Given the description of an element on the screen output the (x, y) to click on. 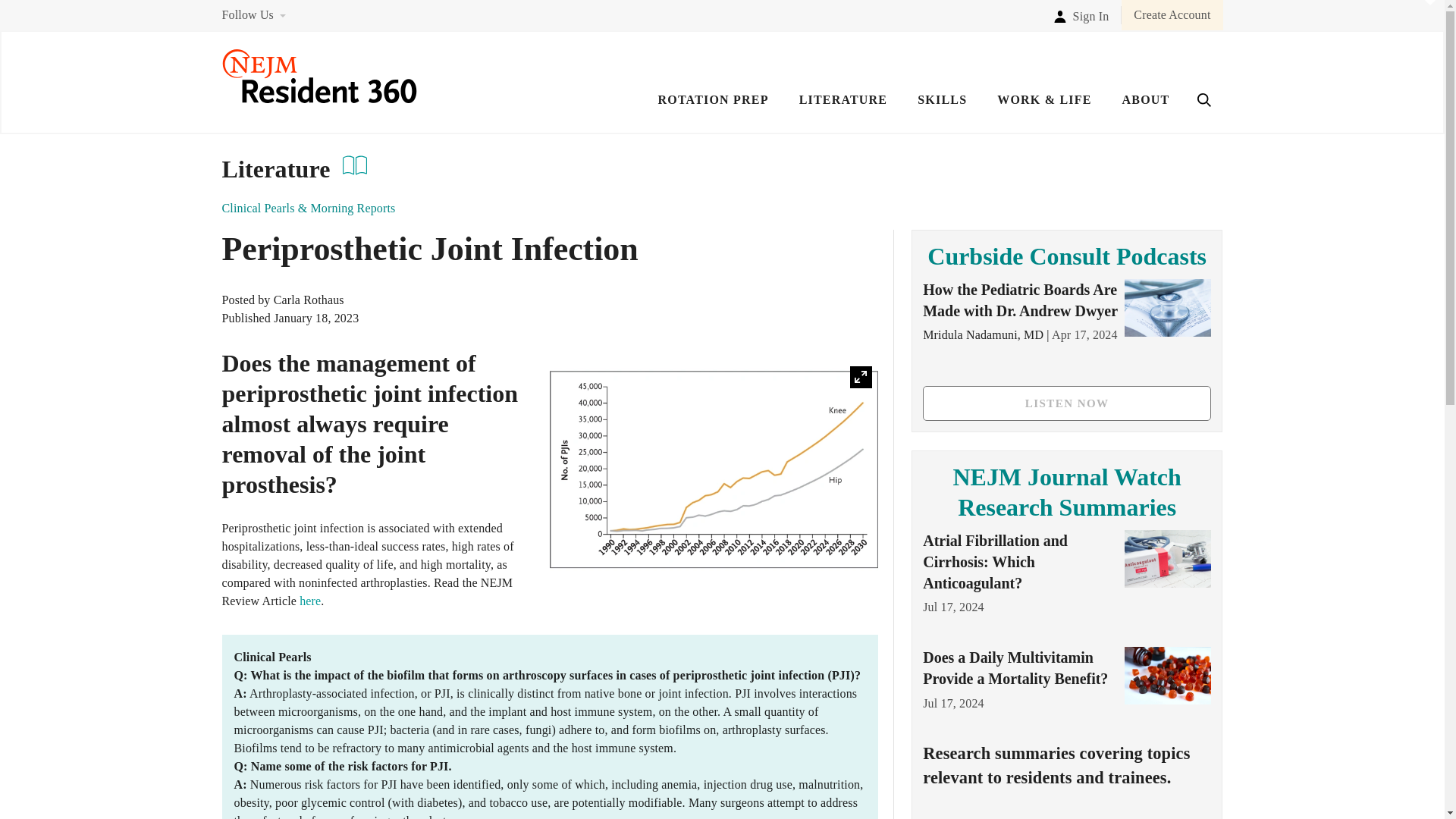
LITERATURE (843, 110)
here (309, 600)
SKILLS (941, 110)
Follow Us (247, 14)
Atrial Fibrillation and Cirrhosis: Which Anticoagulant? (995, 561)
LISTEN NOW (1067, 402)
NEJM Resident 360 (318, 98)
Sign In (1081, 14)
ROTATION PREP (713, 110)
How the Pediatric Boards Are Made with Dr. Andrew Dwyer (1020, 300)
ABOUT (1146, 110)
Does a Daily Multivitamin Provide a Mortality Benefit? (1015, 668)
